Given the description of an element on the screen output the (x, y) to click on. 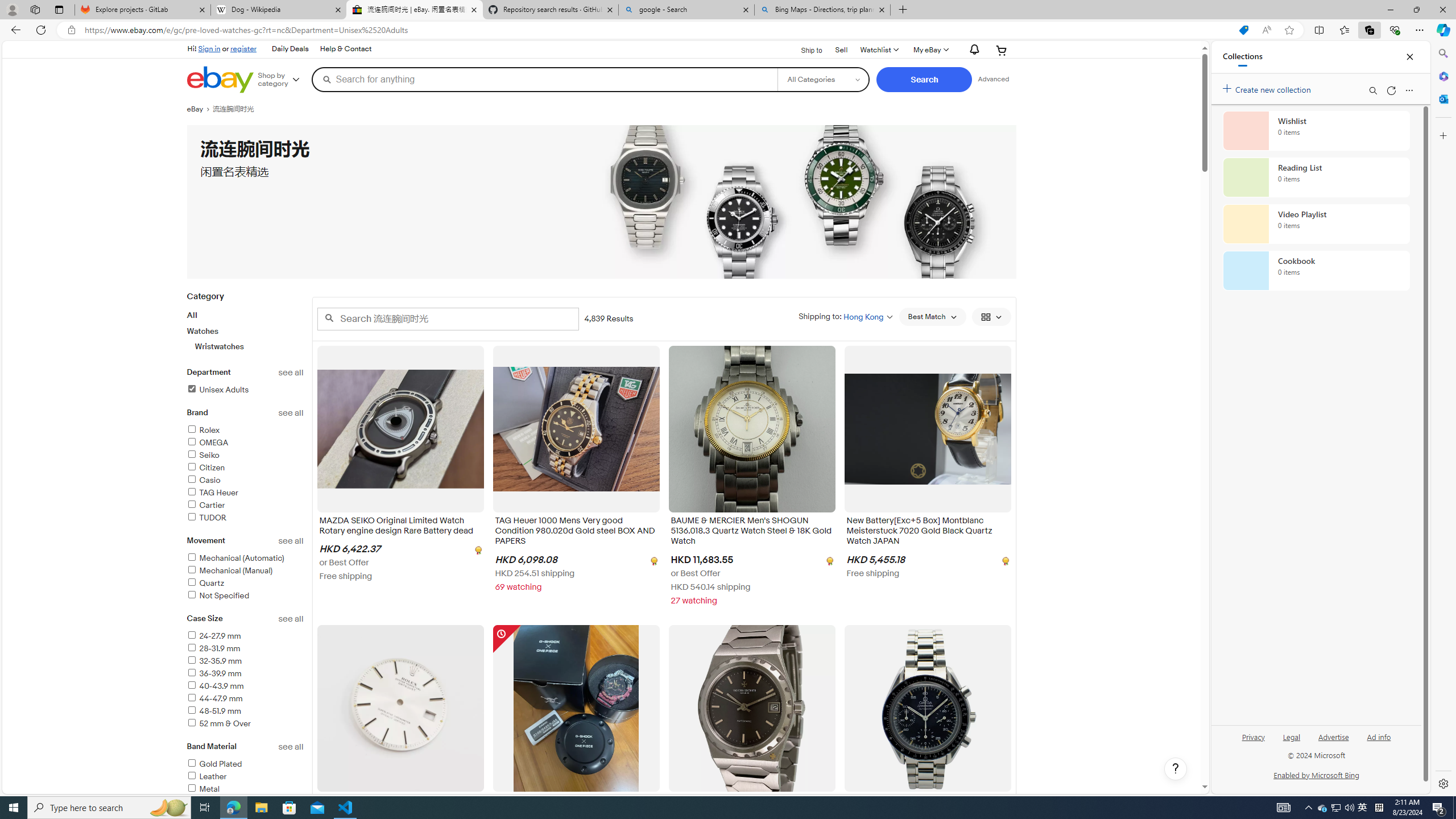
See all movement refinements (291, 540)
Unisex Adults Filter Applied (217, 389)
Seiko (245, 455)
See all case size refinements (291, 618)
Seiko (202, 455)
Enter your search keyword (448, 318)
Quartz (245, 583)
Dog - Wikipedia (277, 9)
40-43.9 mm (245, 686)
Metal (245, 789)
Watchlist (878, 49)
TUDOR (205, 517)
